Given the description of an element on the screen output the (x, y) to click on. 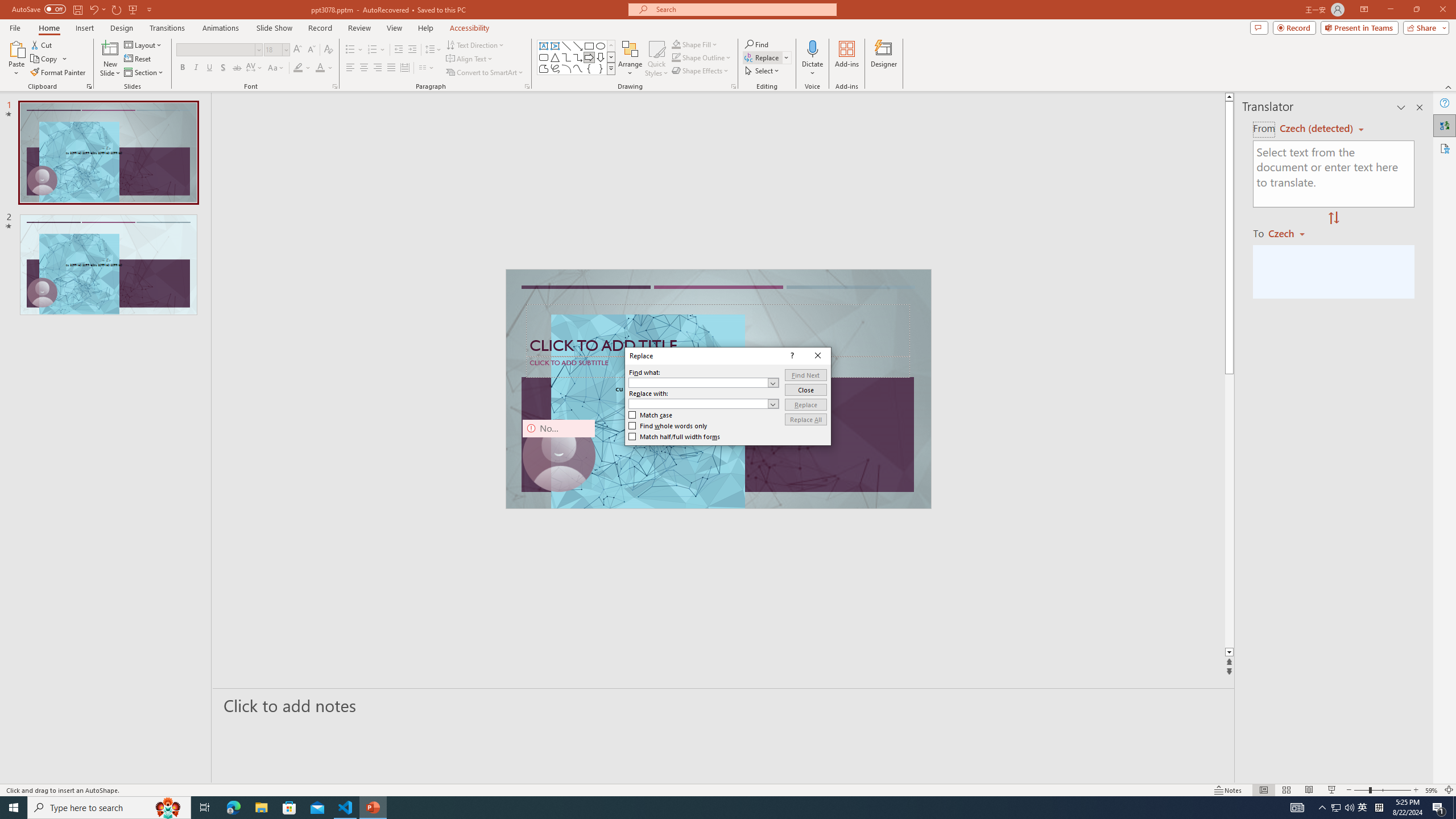
Replace with (697, 403)
Action Center, 1 new notification (1439, 807)
